Given the description of an element on the screen output the (x, y) to click on. 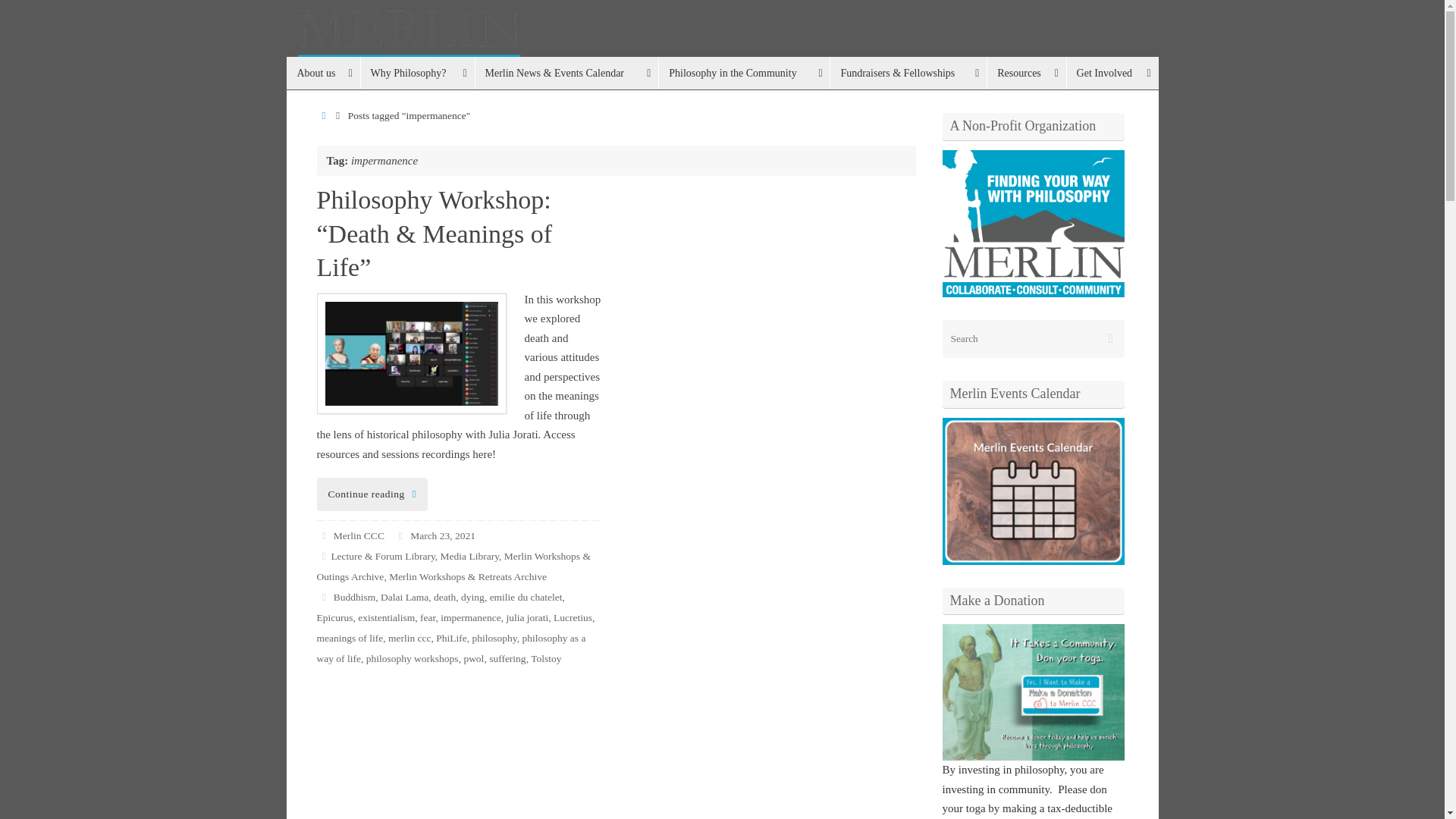
Why Philosophy? (416, 72)
Author  (324, 535)
Date (400, 535)
About us (322, 72)
Merlin CCC  (722, 41)
Tags (325, 596)
Categories (324, 555)
Philosophy in the Community (743, 72)
View all posts by Merlin CCC (358, 535)
